Given the description of an element on the screen output the (x, y) to click on. 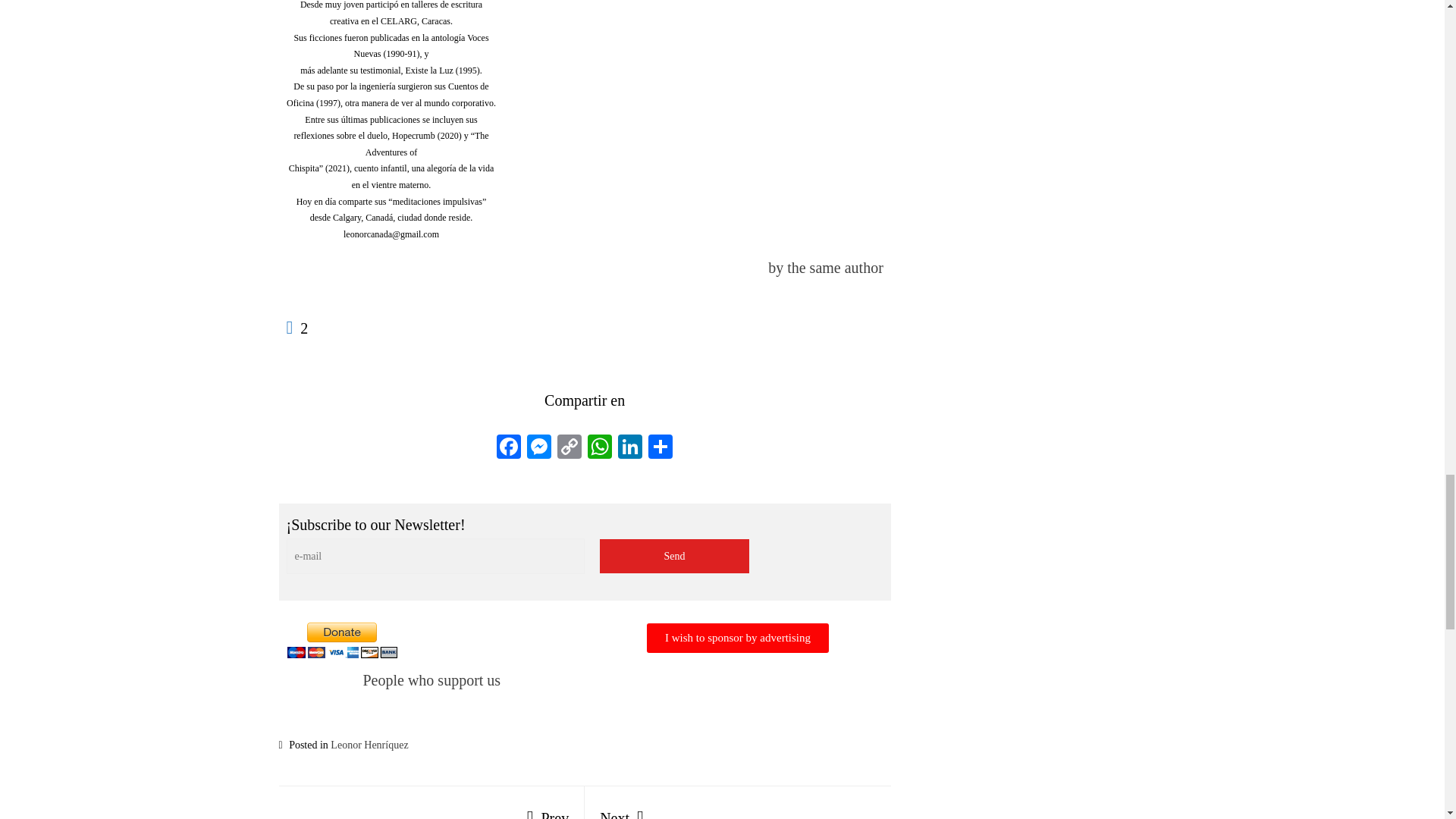
Send (674, 555)
Send (674, 555)
by the same author (825, 267)
WhatsApp (599, 448)
WhatsApp (737, 810)
Copy Link (599, 448)
Messenger (569, 448)
Facebook (539, 448)
People who support us (508, 448)
